Given the description of an element on the screen output the (x, y) to click on. 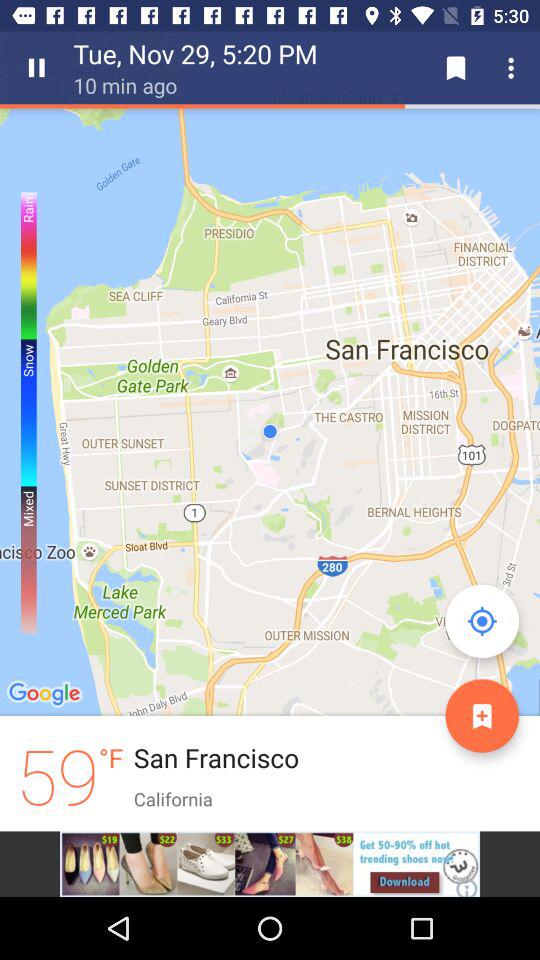
click on location icon (482, 620)
click on the save icon (456, 68)
click on more options icon (514, 68)
select the orange color button (482, 715)
click on the left corner scale (29, 372)
click on the second button from bottom (482, 620)
click on the control and customize option (514, 68)
click on the button beside three dotted icon in the page (456, 68)
